Given the description of an element on the screen output the (x, y) to click on. 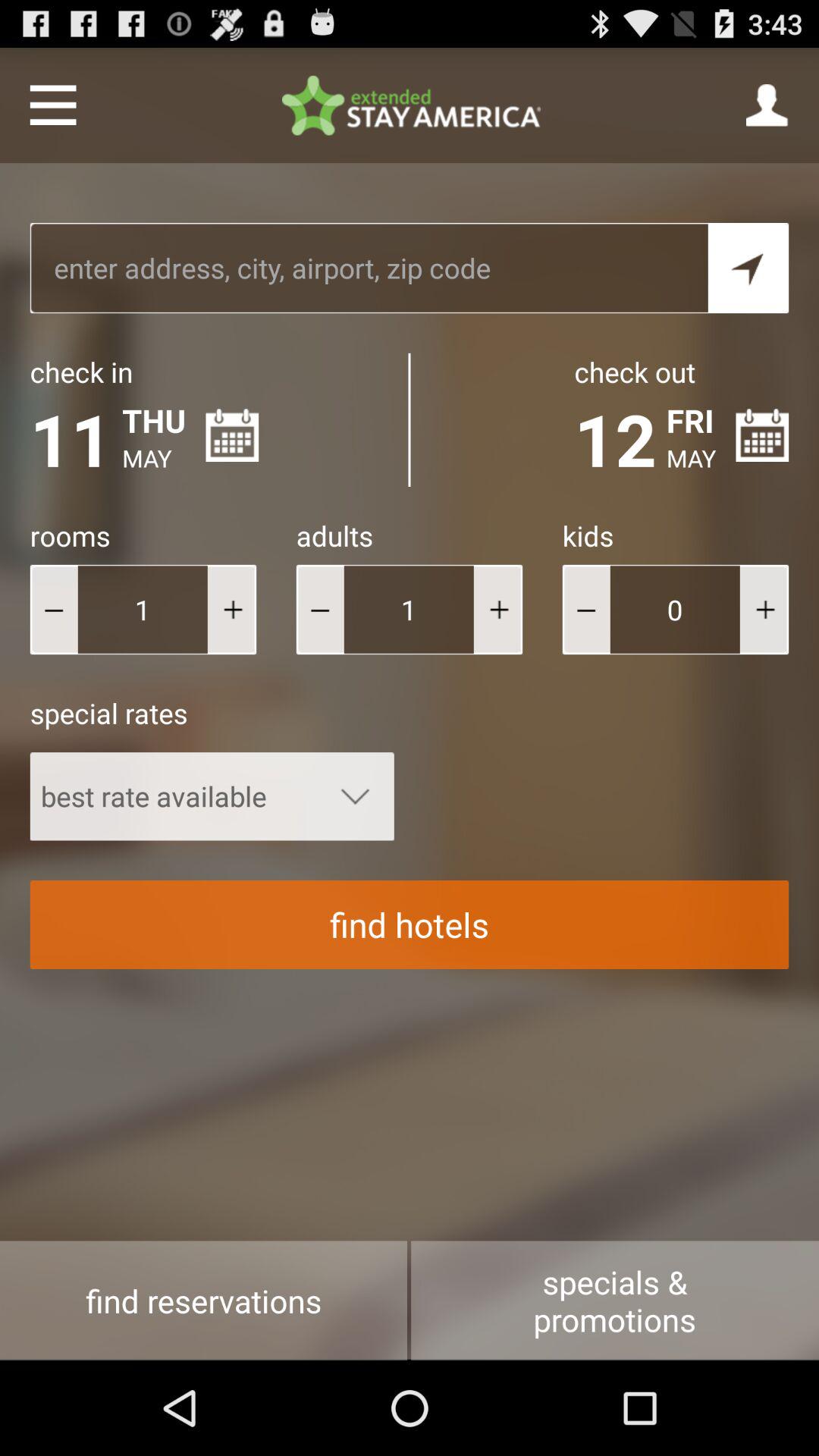
search (748, 267)
